Given the description of an element on the screen output the (x, y) to click on. 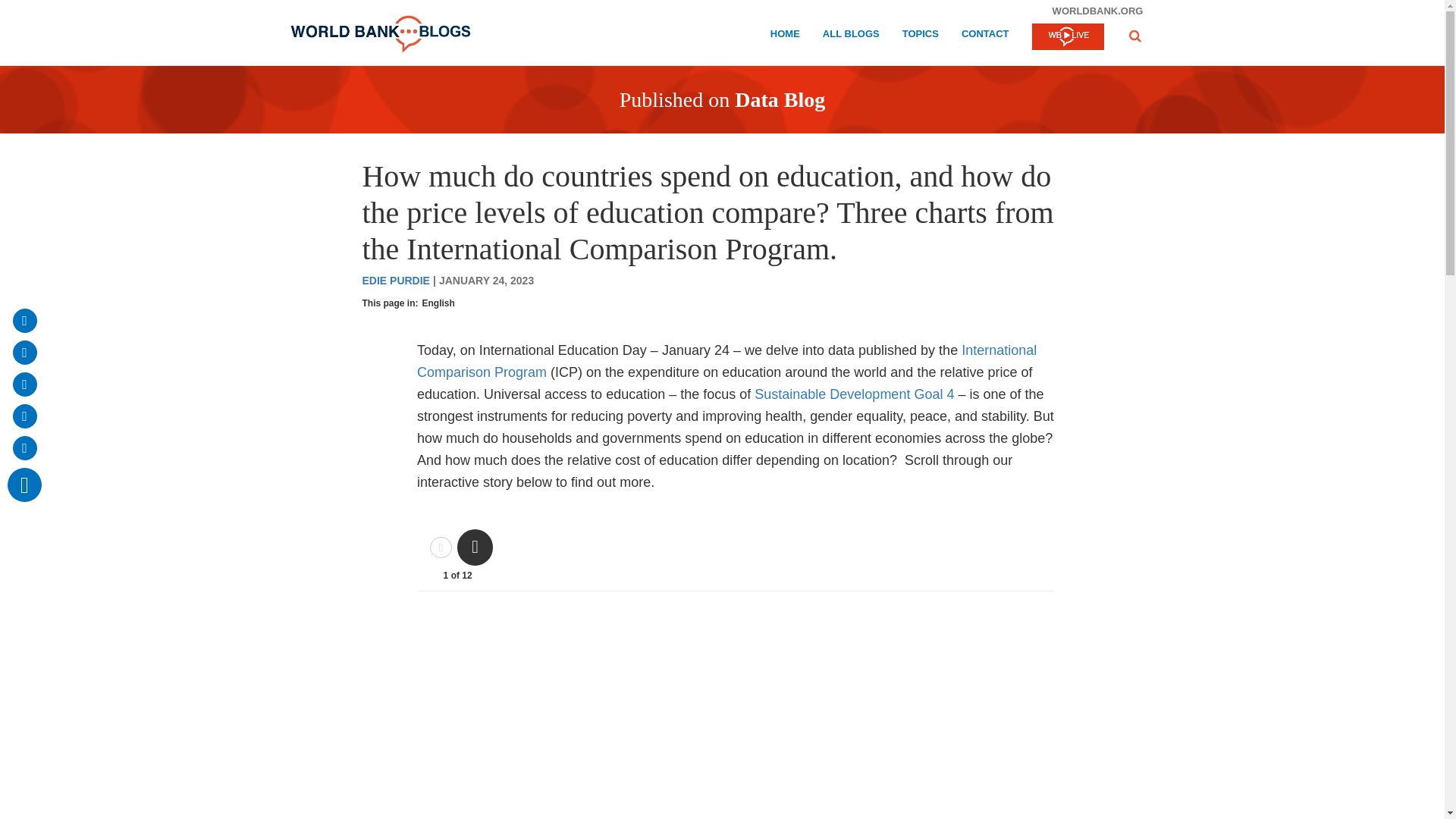
CONTACT (984, 37)
Facebook (23, 352)
Sustainable Development Goal 4 (853, 394)
HOME (784, 37)
comment (24, 484)
ALL BLOGS (850, 37)
Tweet (23, 384)
Data Blog (780, 99)
WORLDBANK.ORG (1097, 10)
Email (23, 320)
